Given the description of an element on the screen output the (x, y) to click on. 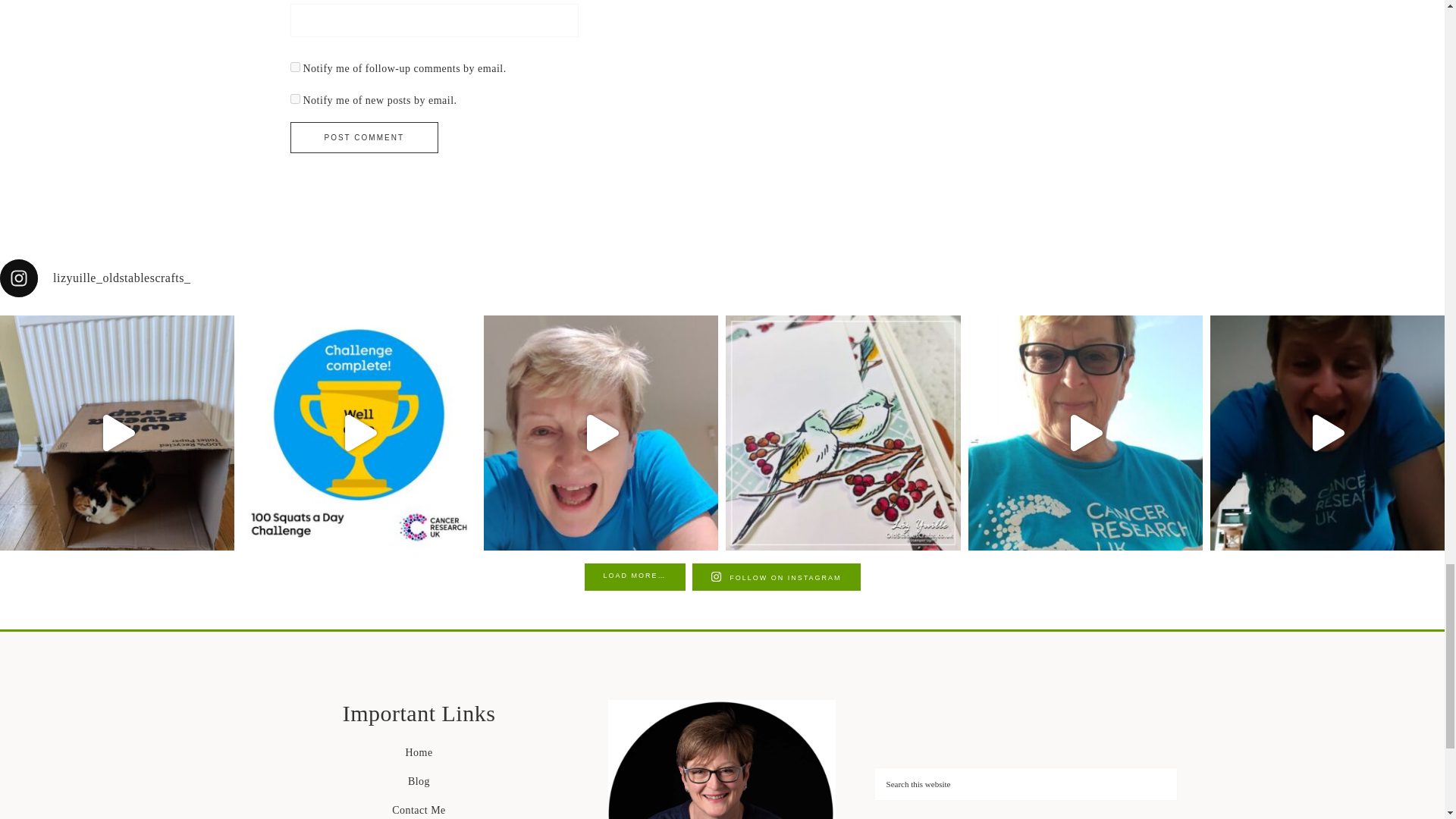
subscribe (294, 67)
Post Comment (363, 137)
subscribe (294, 99)
Post Comment (363, 137)
FOLLOW ON INSTAGRAM (776, 576)
